Given the description of an element on the screen output the (x, y) to click on. 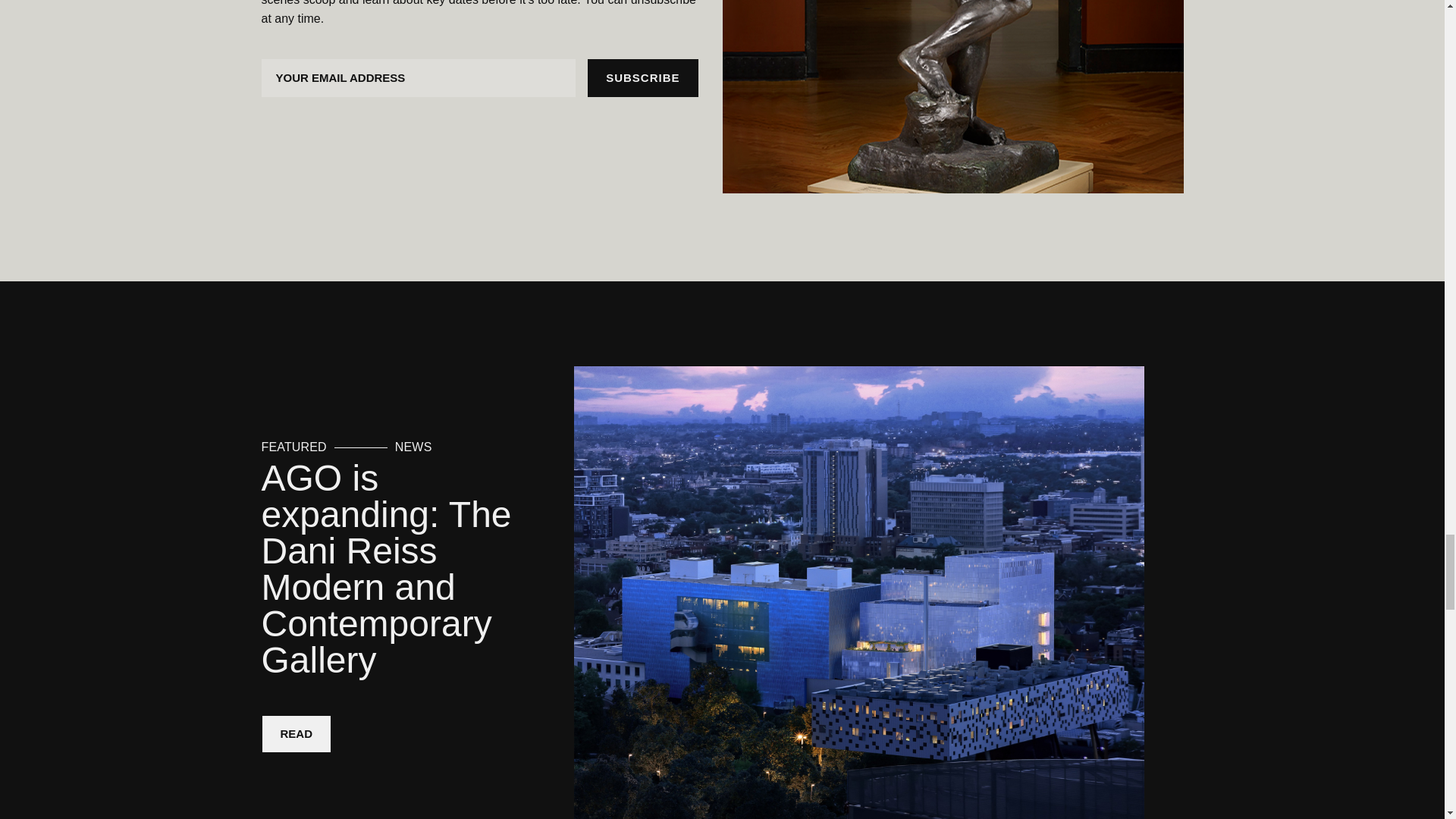
Subscribe (642, 77)
